Given the description of an element on the screen output the (x, y) to click on. 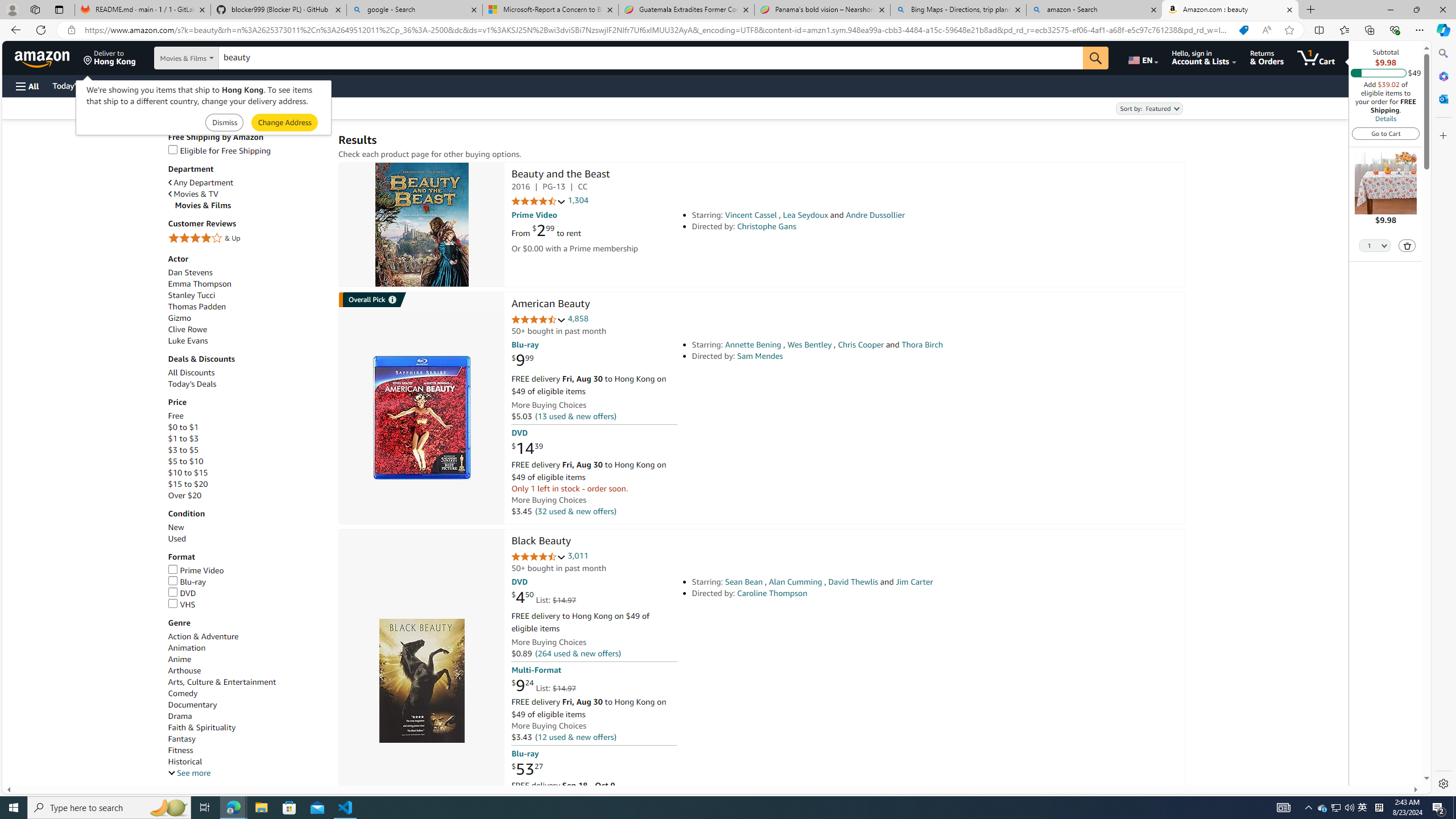
Returns & Orders (1266, 57)
Over $20 (184, 495)
4,858 (577, 318)
Faith & Spirituality (247, 727)
Arts, Culture & Entertainment (247, 682)
Amazon (43, 57)
Arts, Culture & Entertainment (221, 681)
Free (175, 415)
Go back to filtering menu (48, 780)
Delete (1407, 245)
